Given the description of an element on the screen output the (x, y) to click on. 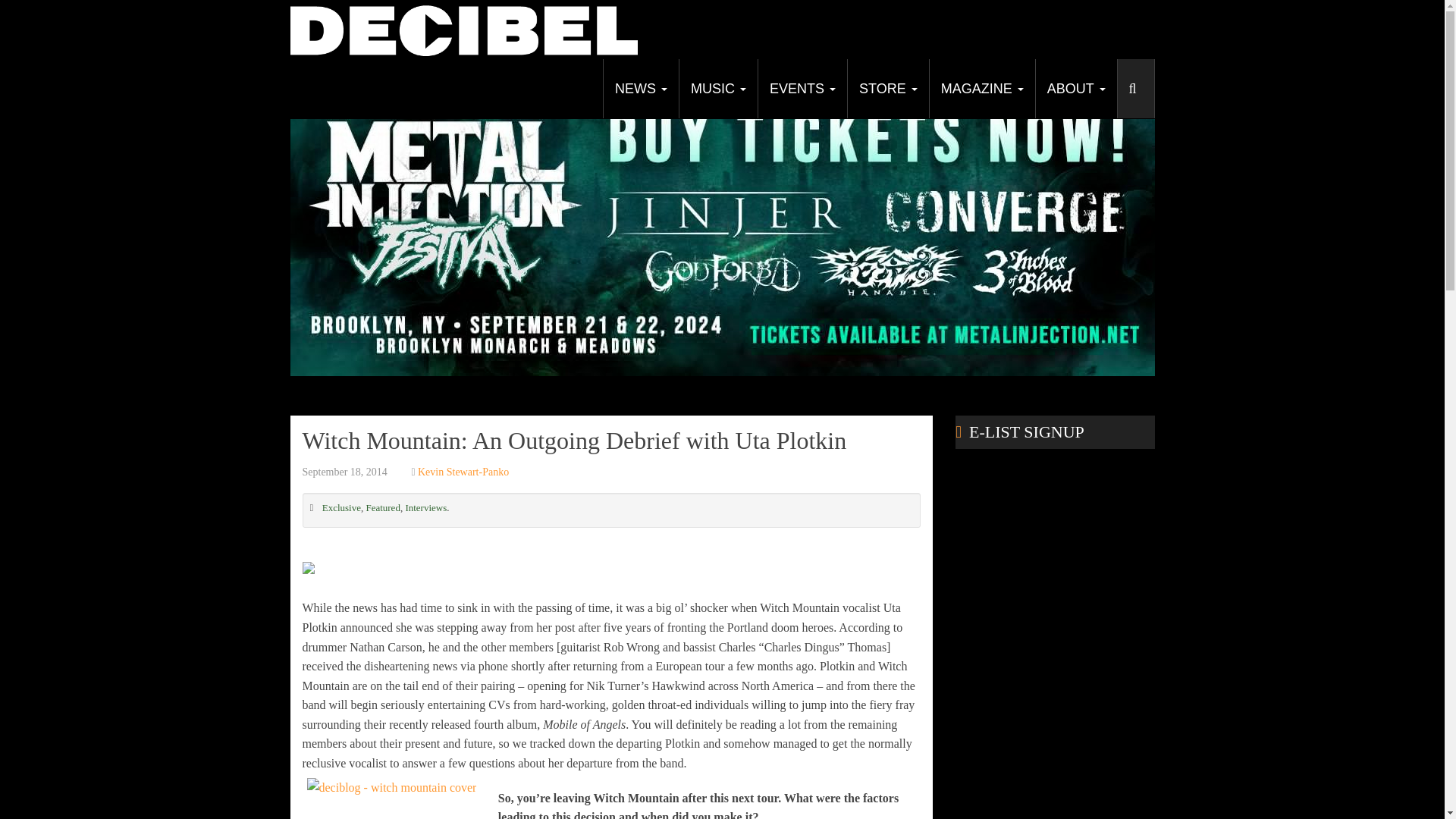
EVENTS (802, 87)
Music (717, 87)
STORE (887, 87)
ABOUT (1075, 87)
MAGAZINE (981, 87)
Twitter (1056, 73)
YouTube (1083, 73)
Soundcloud (1139, 73)
Instagram (1111, 73)
NEWS (640, 87)
